Given the description of an element on the screen output the (x, y) to click on. 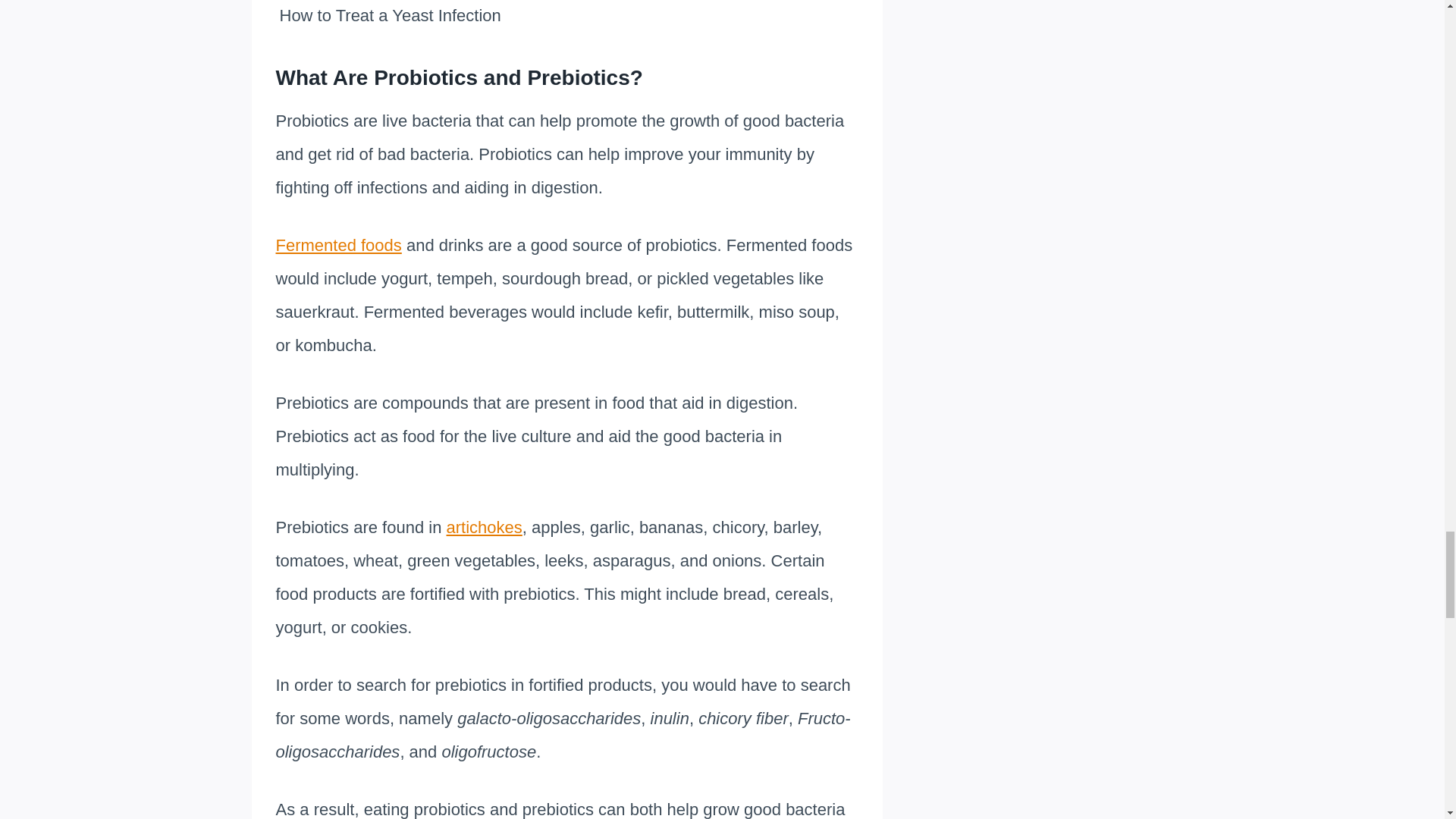
Fermented foods (338, 244)
artichokes (484, 527)
How to Treat a Yeast Infection (570, 15)
